Given the description of an element on the screen output the (x, y) to click on. 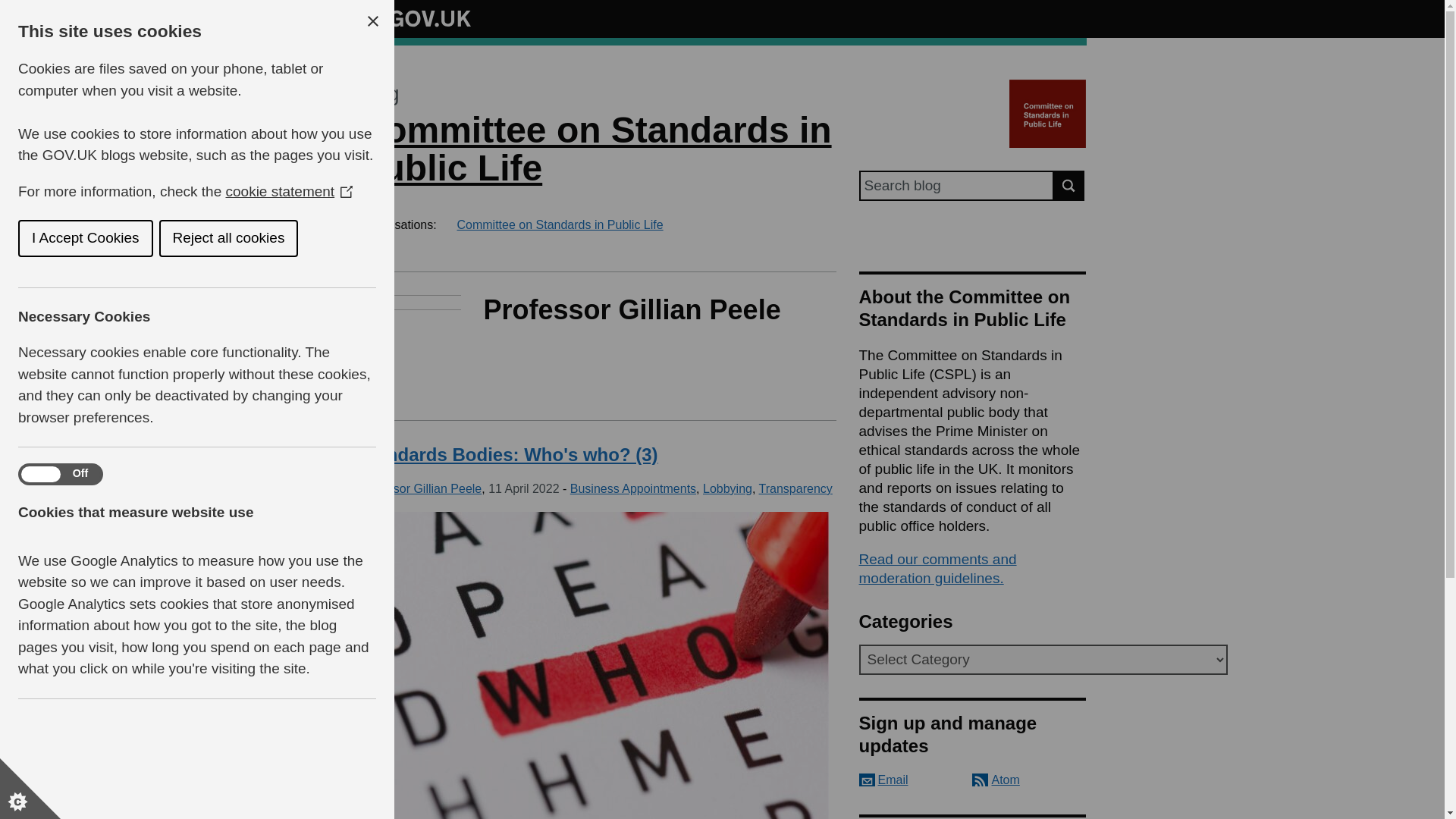
Go to the GOV.UK homepage (414, 18)
GOV.UK (414, 18)
Atom (995, 779)
GOV.UK (414, 15)
Skip to main content (11, 7)
Professor Gillian Peele (419, 488)
Lobbying (727, 488)
Committee on Standards in Public Life (559, 224)
Blog (378, 93)
Search (1069, 185)
Email (883, 779)
Read our comments and moderation guidelines. (937, 568)
Committee on Standards in Public Life (594, 148)
Transparency (795, 488)
Posts by Professor Gillian Peele (419, 488)
